Given the description of an element on the screen output the (x, y) to click on. 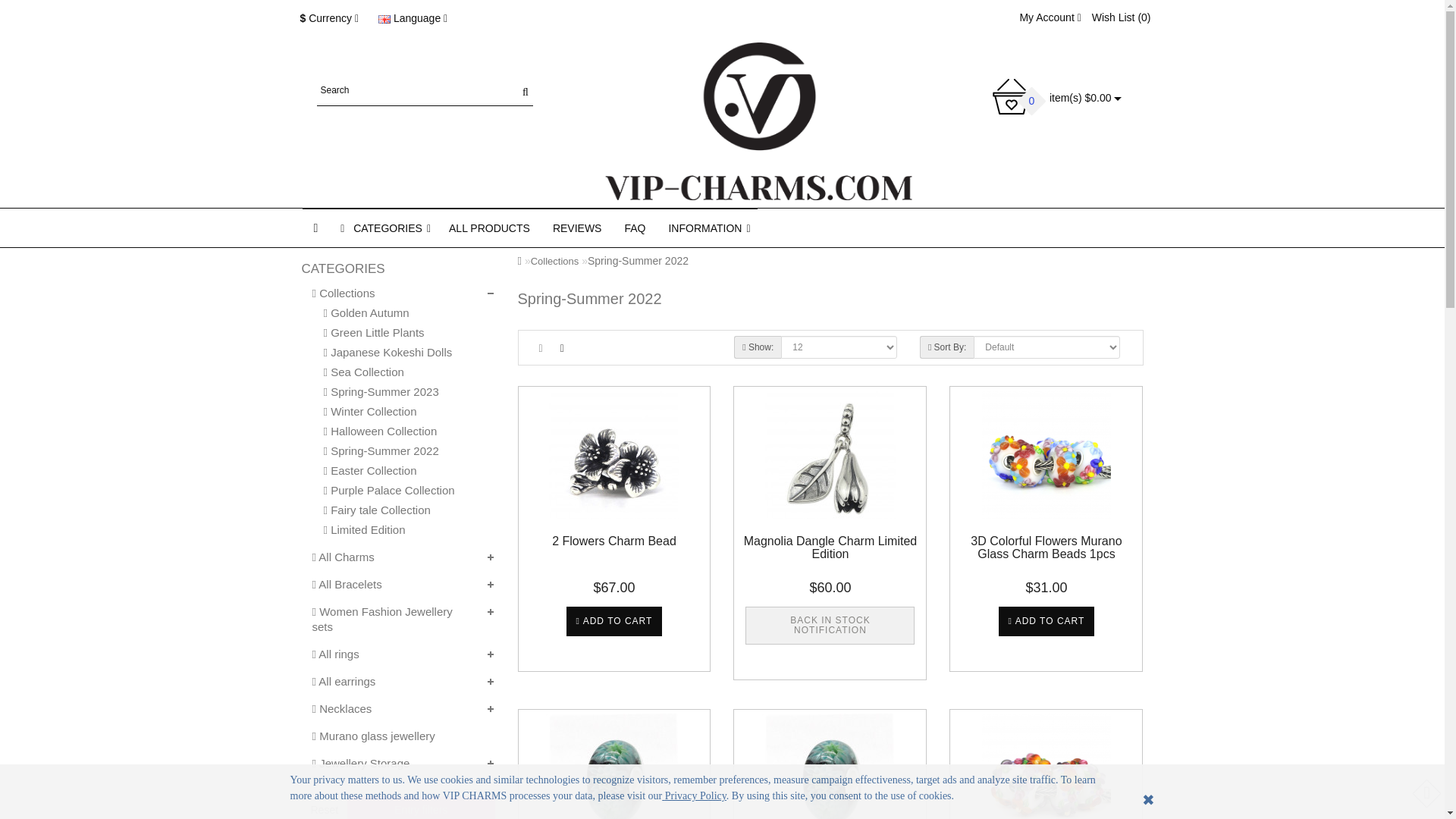
My Account (1049, 17)
English (384, 19)
Online Store VIP CHARMS (759, 120)
My Account (1049, 17)
Language  (412, 19)
   CATEGORIES (383, 227)
